Given the description of an element on the screen output the (x, y) to click on. 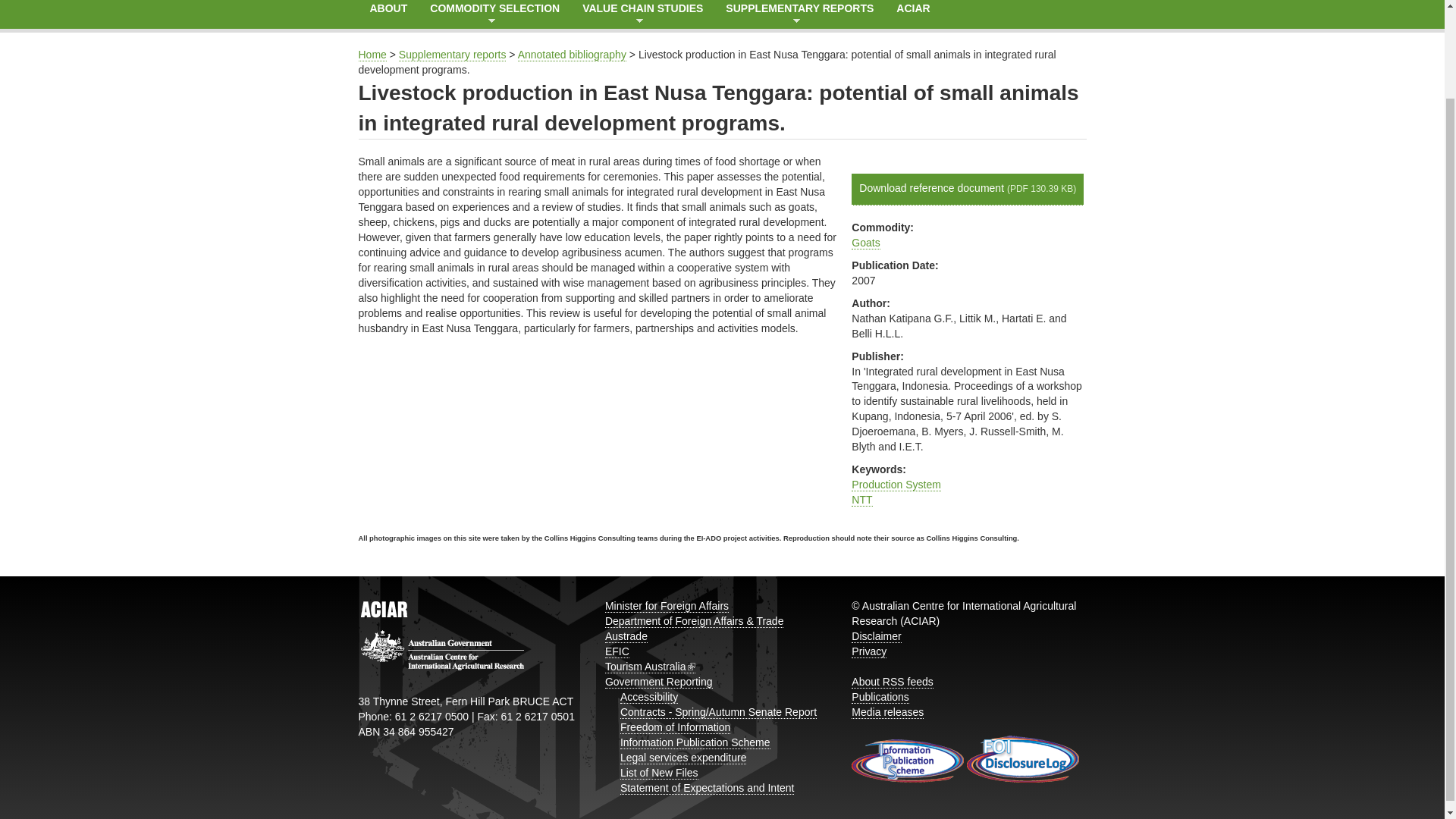
Publications RSS feed (879, 697)
Supplementary reports (452, 54)
Production System (895, 484)
Government Reporting (659, 681)
ABOUT (388, 14)
Home (371, 54)
Tourism Australia (650, 666)
Annotated bibliography (572, 54)
NTT (861, 499)
Information about using RSS feeds (892, 681)
Goats (865, 242)
Minister for Foreign Affairs (667, 605)
ACIAR (912, 14)
Australian Centre for International Agricultural Research (912, 14)
Austrade (626, 635)
